Given the description of an element on the screen output the (x, y) to click on. 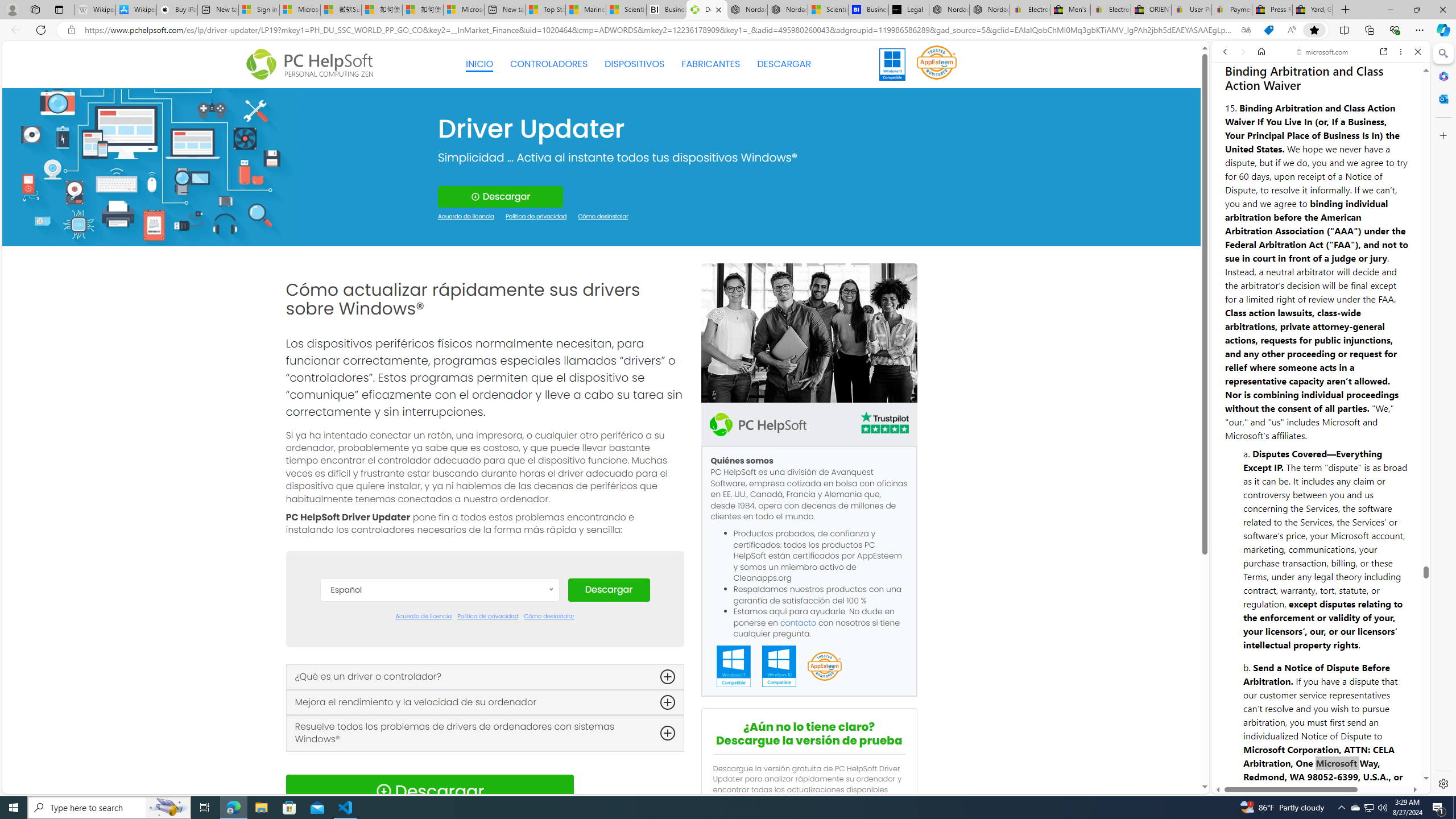
Norsk (439, 780)
Nederlands (439, 763)
